Given the description of an element on the screen output the (x, y) to click on. 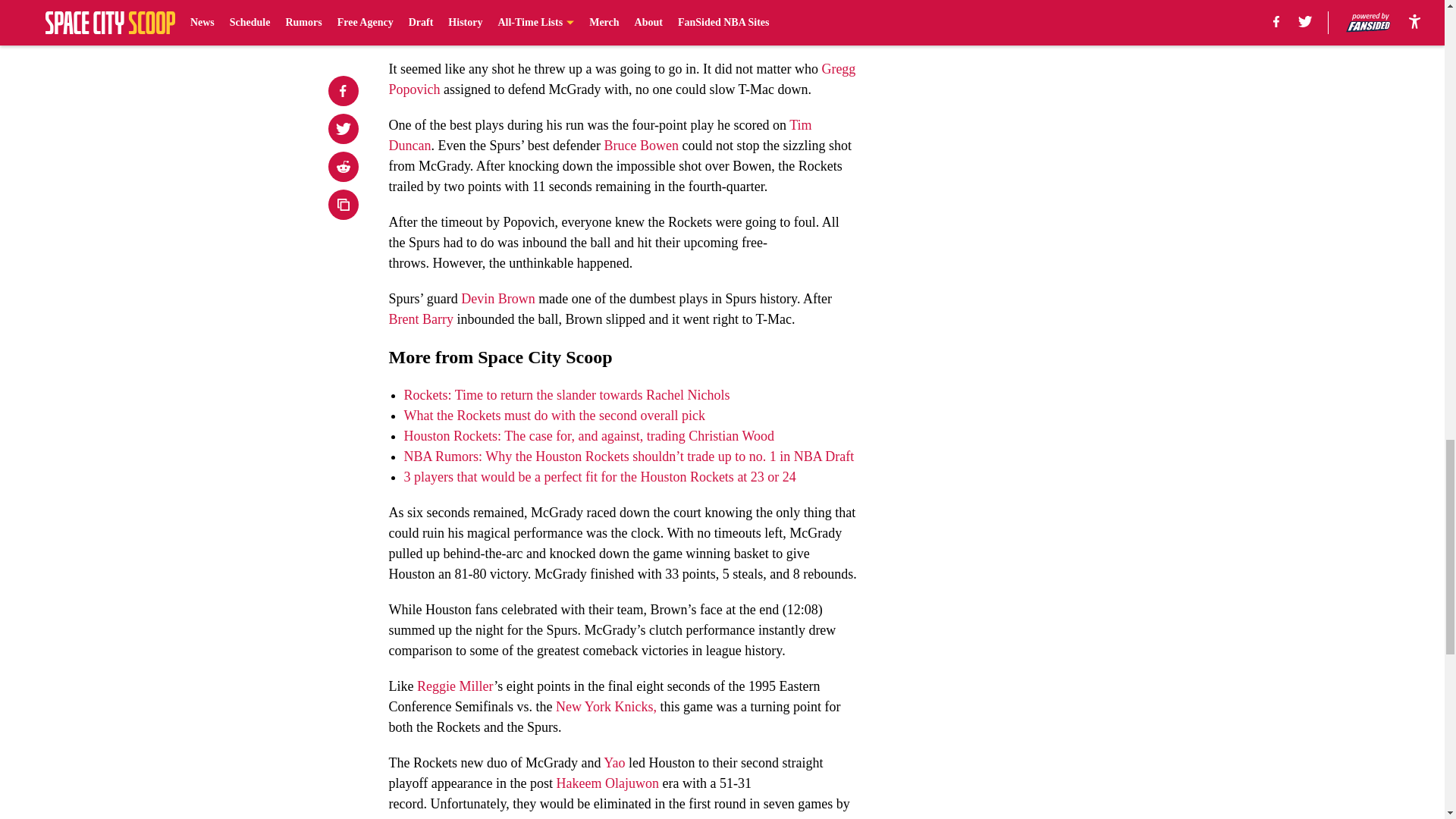
New York Knicks, (606, 706)
Reggie Miller (454, 685)
Bruce Bowen (641, 145)
Brent Barry (420, 319)
Devin Brown (498, 298)
Tim Duncan (599, 135)
Rockets: Time to return the slander towards Rachel Nichols (566, 394)
What the Rockets must do with the second overall pick (553, 415)
